Given the description of an element on the screen output the (x, y) to click on. 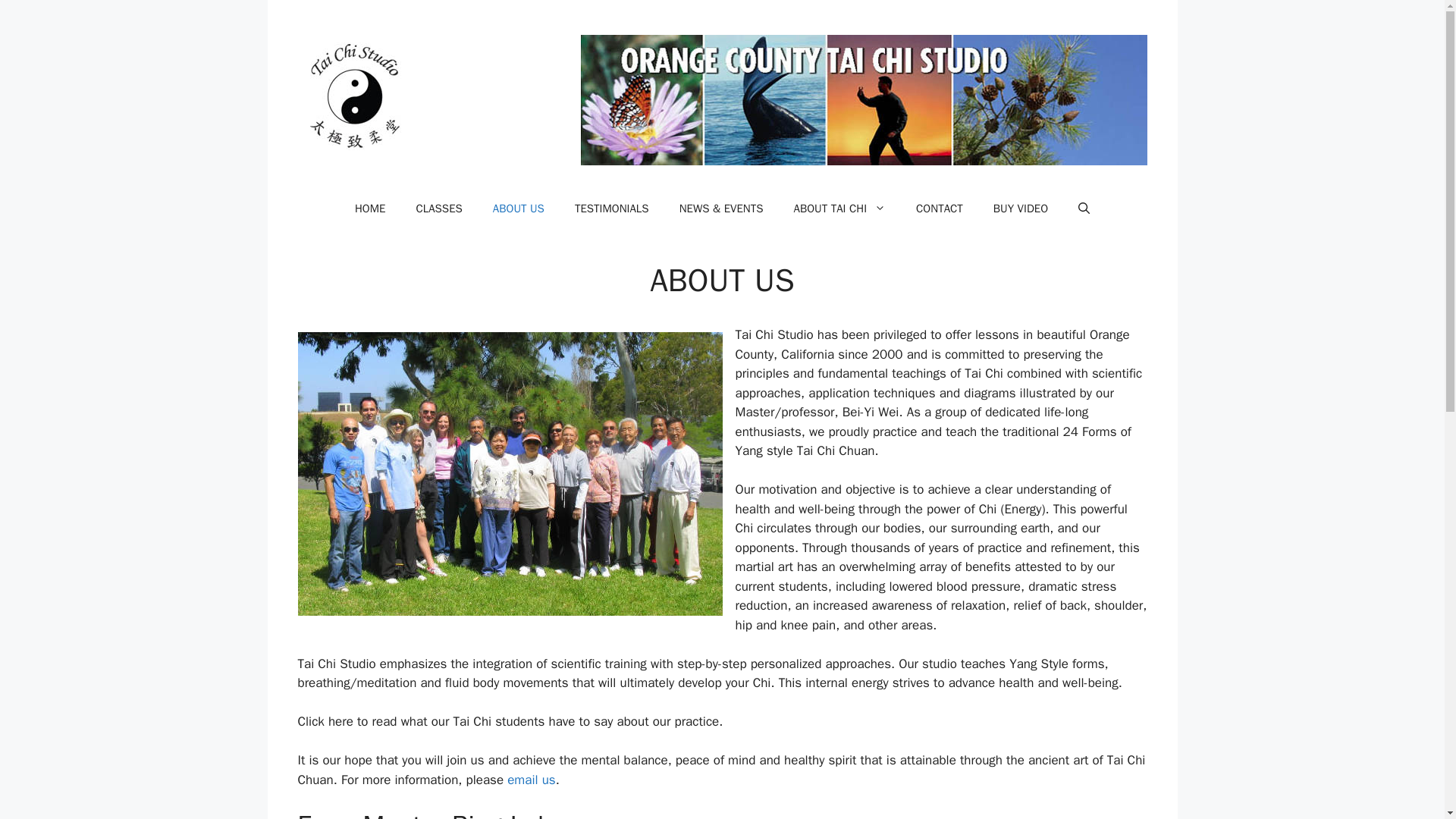
HOME (369, 207)
BUY VIDEO (1020, 207)
TESTIMONIALS (611, 207)
ABOUT TAI CHI (839, 207)
CONTACT (939, 207)
email us (530, 779)
CLASSES (438, 207)
ABOUT US (518, 207)
